Given the description of an element on the screen output the (x, y) to click on. 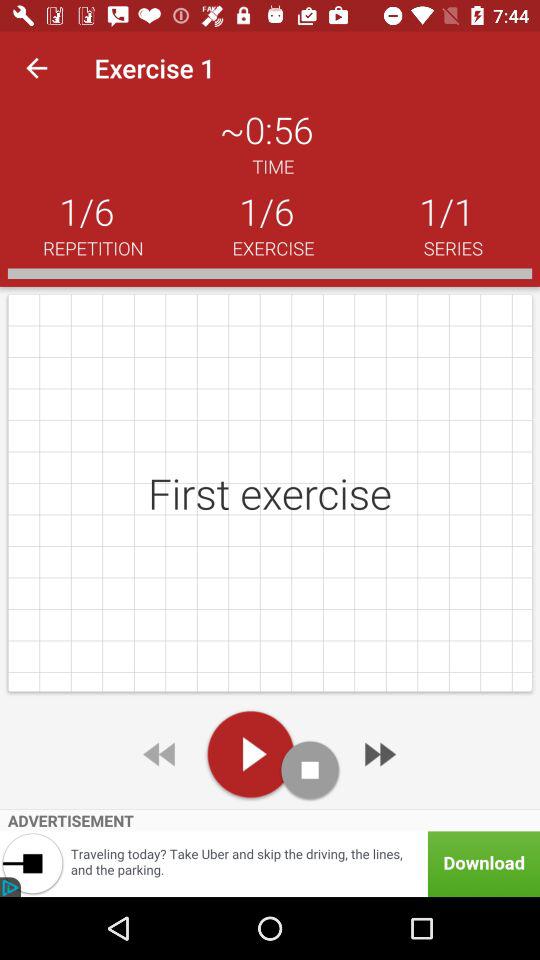
open advertisement (270, 864)
